Given the description of an element on the screen output the (x, y) to click on. 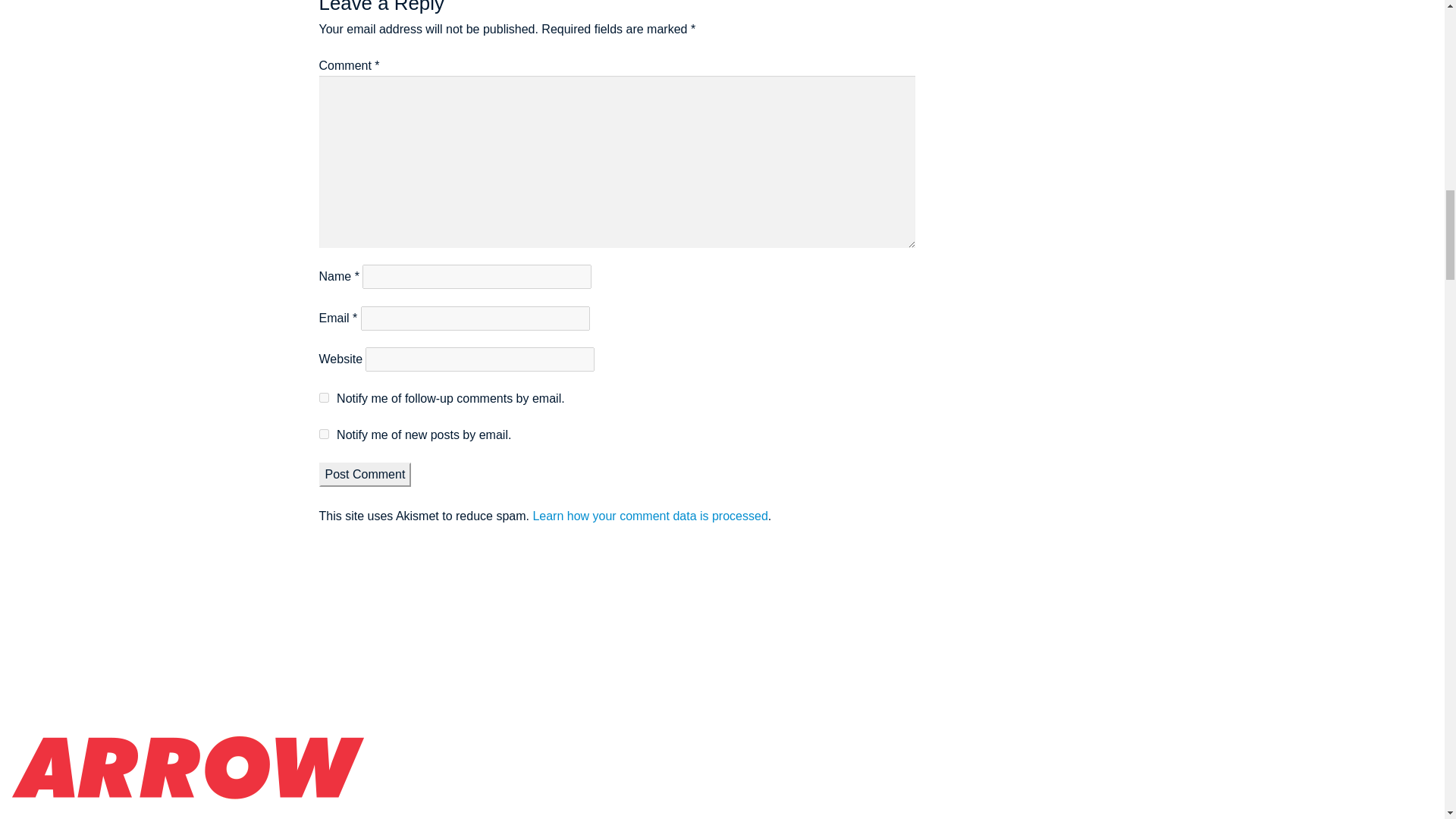
Arrow Solutions (189, 714)
subscribe (323, 397)
subscribe (323, 433)
Post Comment (365, 474)
